Given the description of an element on the screen output the (x, y) to click on. 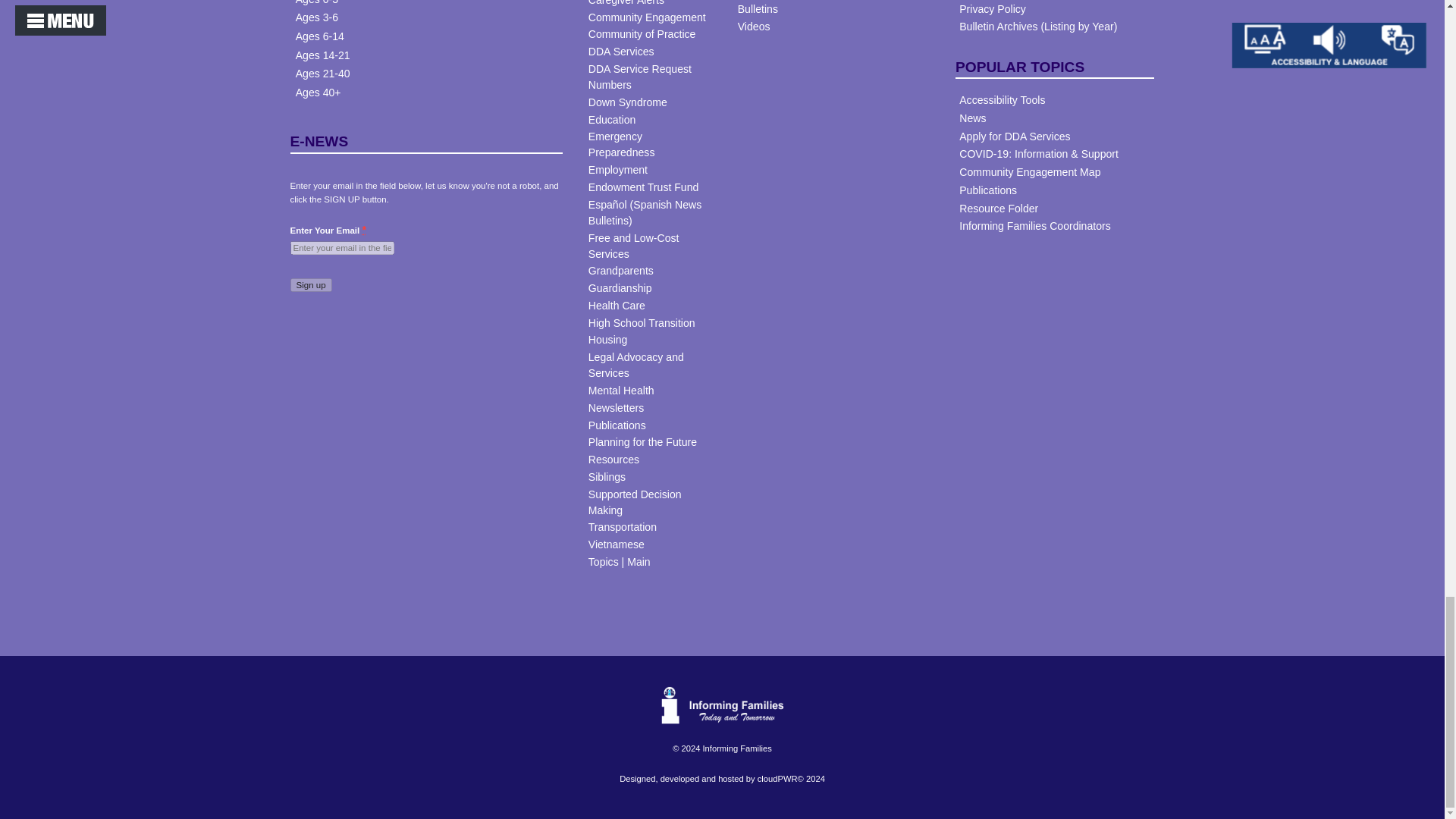
Sign up (310, 284)
Ages 0-3 (316, 2)
Ages 3-6 (316, 17)
Ages 6-14 (319, 36)
